Given the description of an element on the screen output the (x, y) to click on. 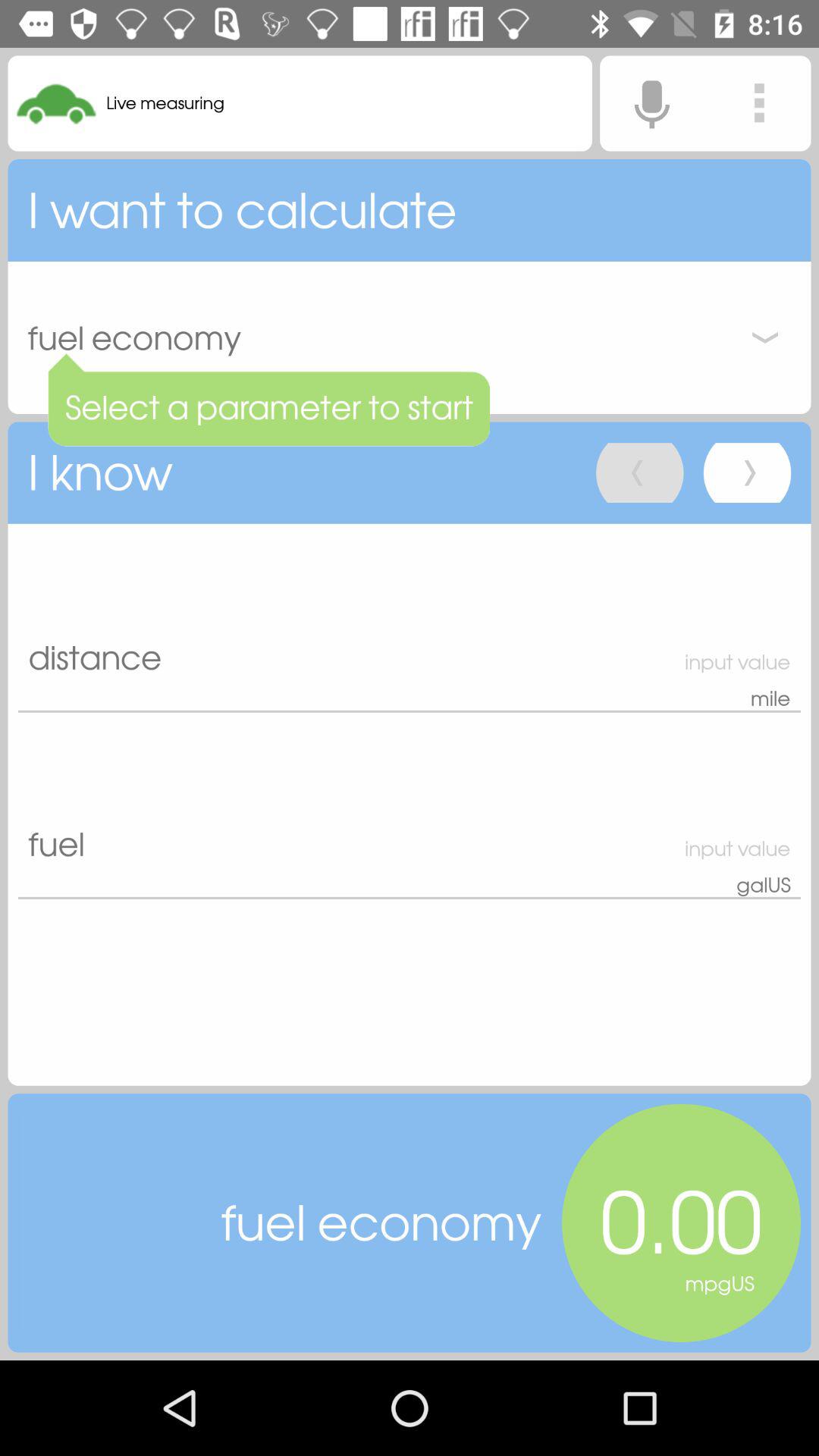
scroll forward (747, 472)
